Given the description of an element on the screen output the (x, y) to click on. 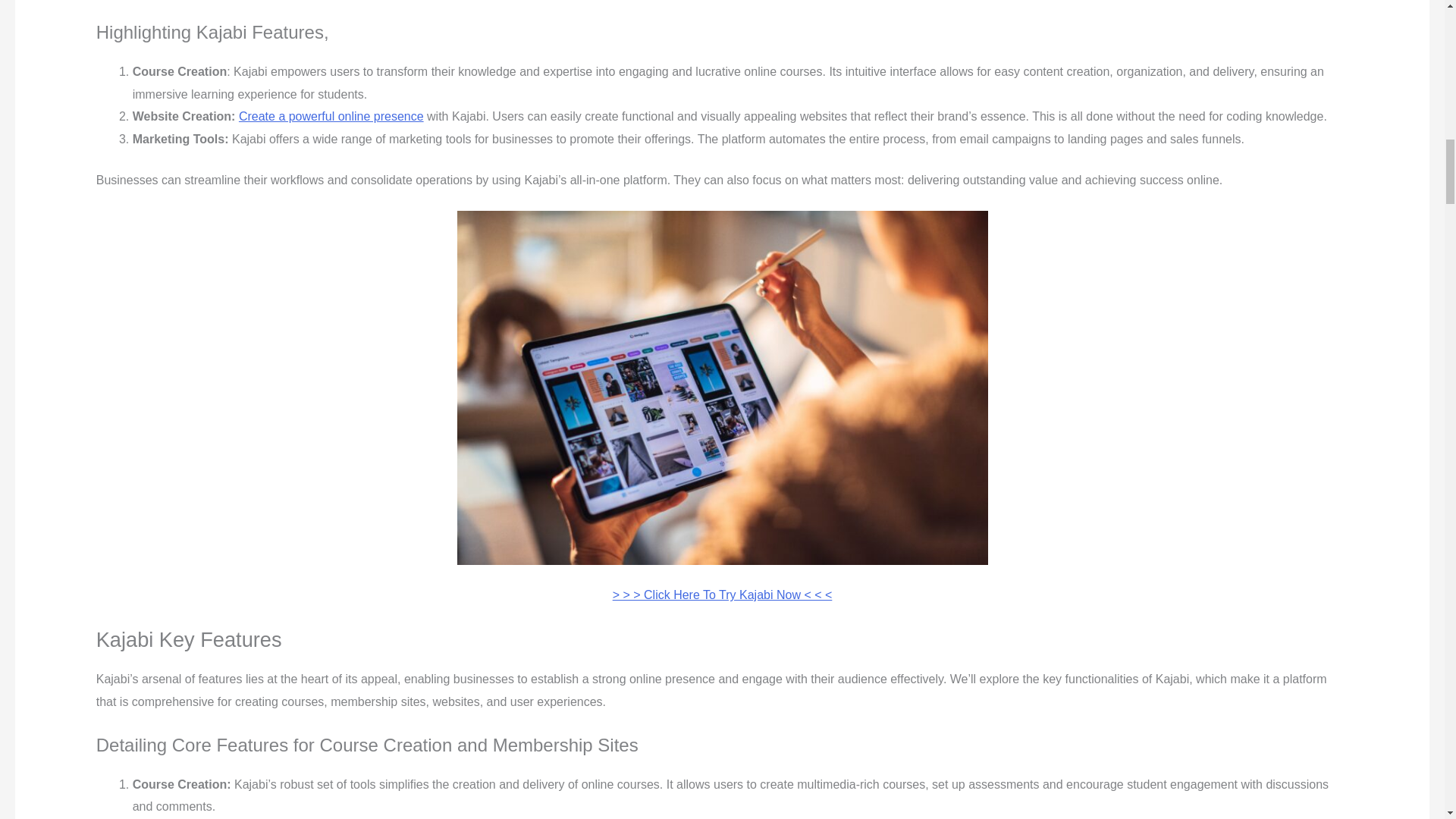
Create a powerful online presence (330, 115)
